Given the description of an element on the screen output the (x, y) to click on. 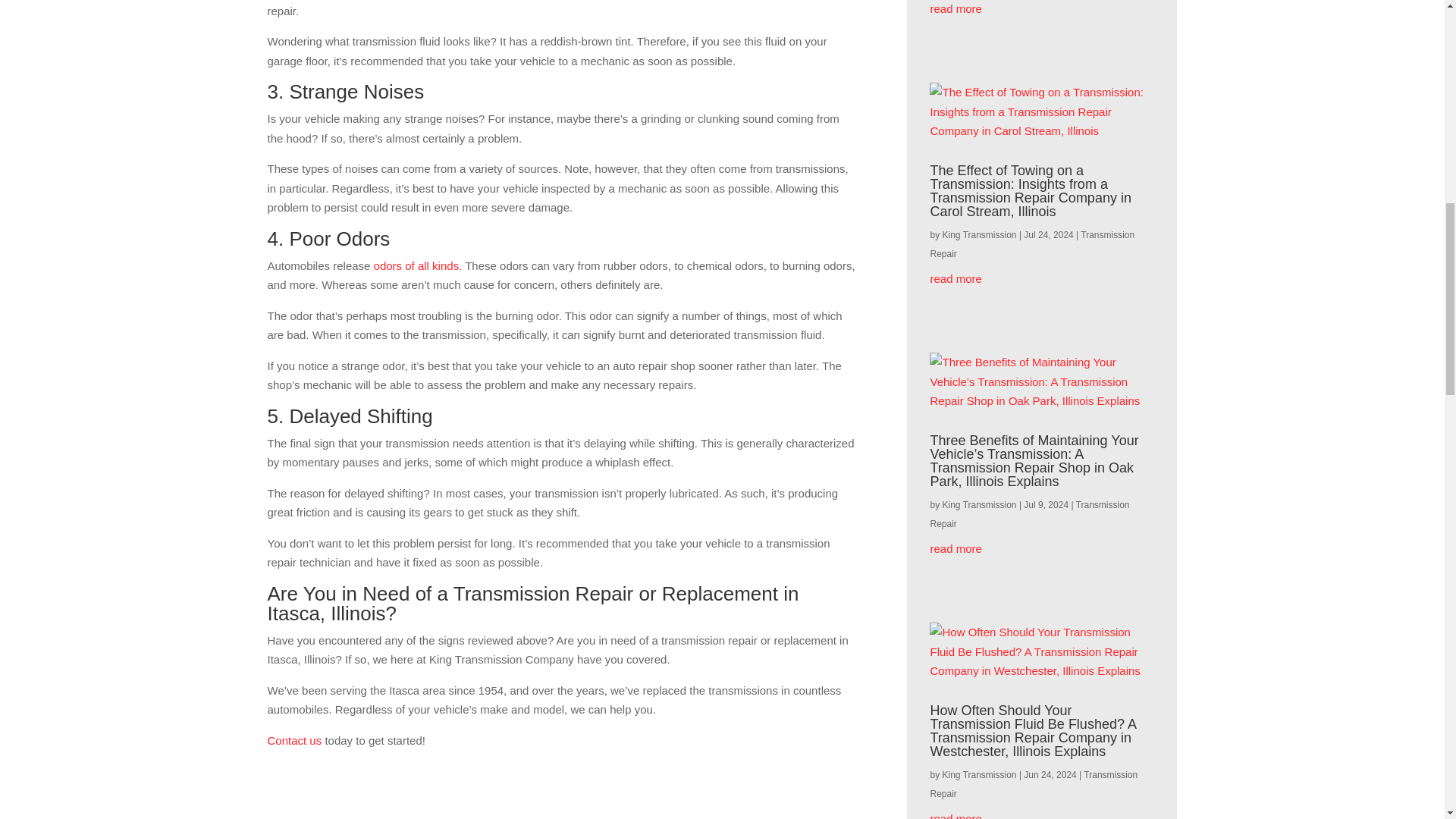
Contact us (293, 739)
read more (1042, 9)
Posts by King Transmission (979, 504)
odors of all kinds. (418, 265)
Posts by King Transmission (979, 235)
